Given the description of an element on the screen output the (x, y) to click on. 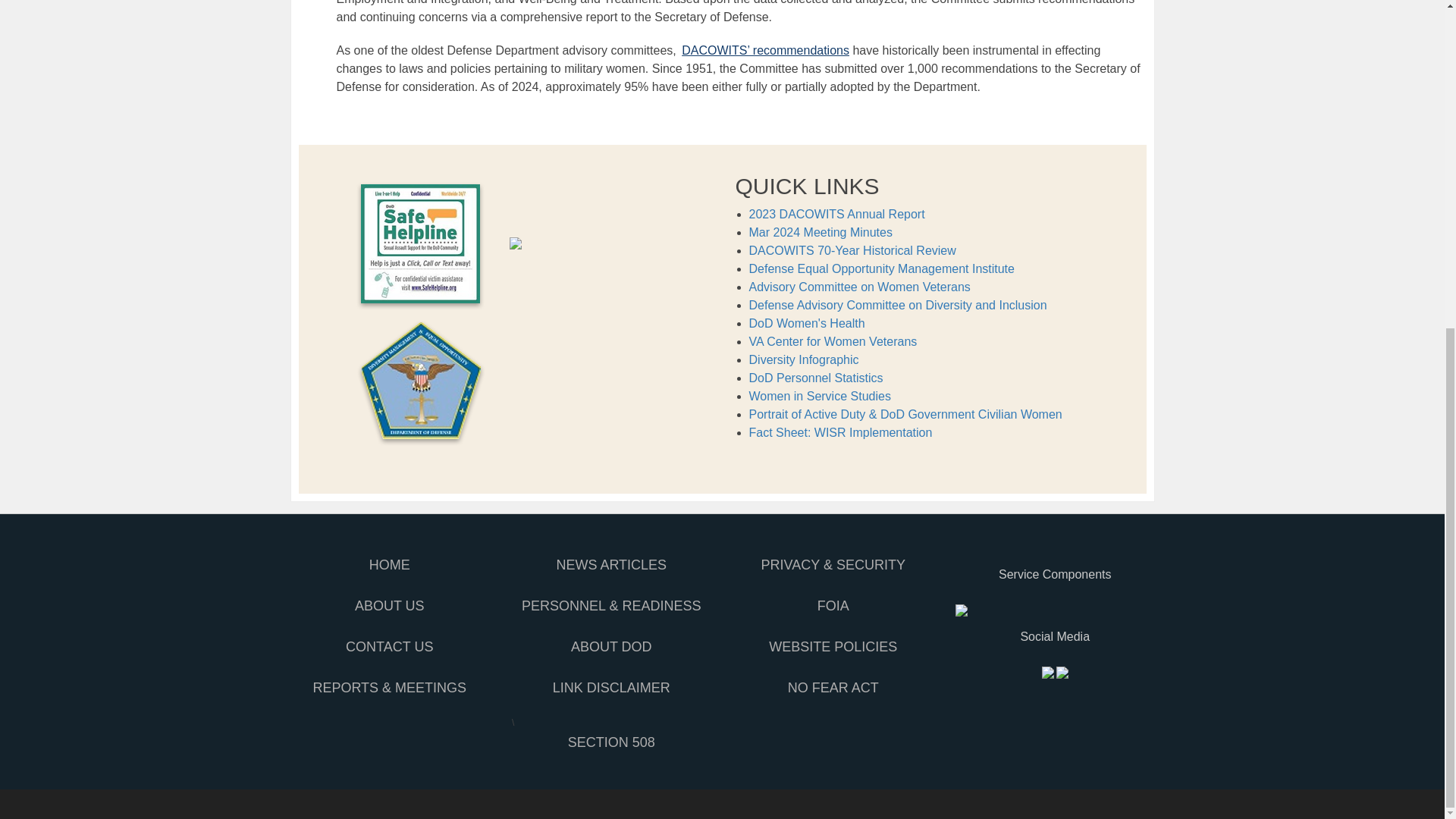
DACOWITS 70-Year Historical Review (852, 250)
Defense Equal Opportunity Management Institute (881, 268)
Mar 2024 Meeting Minutes (820, 232)
2023 DACOWITS Annual Report (836, 214)
